Given the description of an element on the screen output the (x, y) to click on. 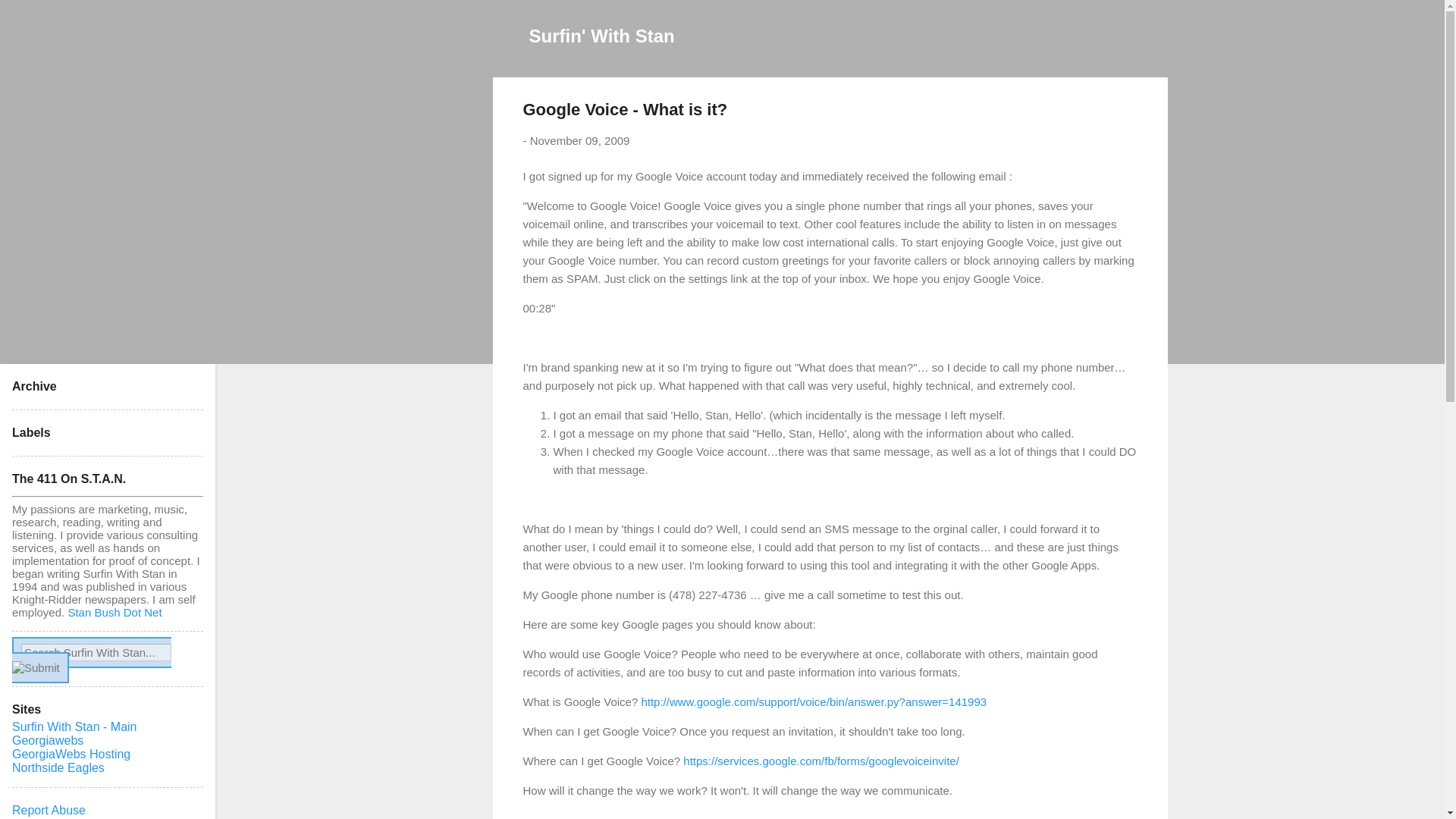
Search (29, 18)
Search Surfin With Stan... (96, 651)
Submit (35, 667)
November 09, 2009 (579, 140)
permanent link (579, 140)
Surfin' With Stan (602, 35)
